Given the description of an element on the screen output the (x, y) to click on. 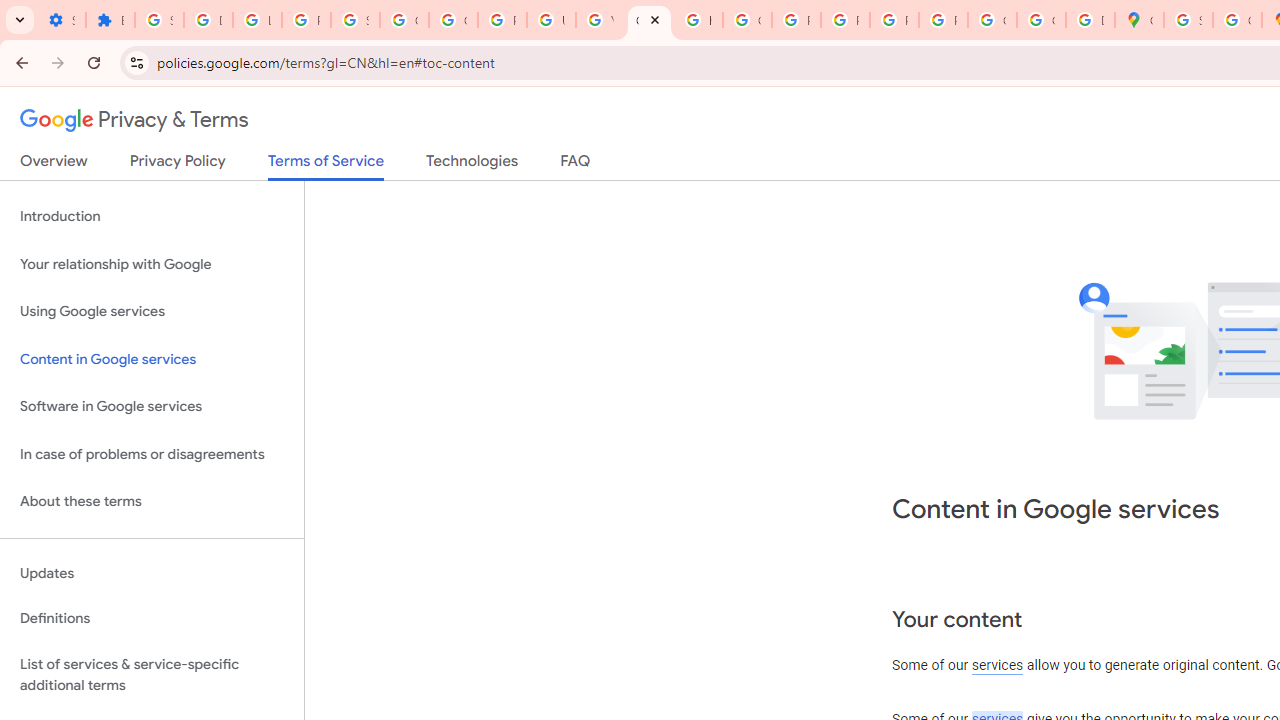
FAQ (575, 165)
Using Google services (152, 312)
Privacy Help Center - Policies Help (795, 20)
Definitions (152, 619)
